Given the description of an element on the screen output the (x, y) to click on. 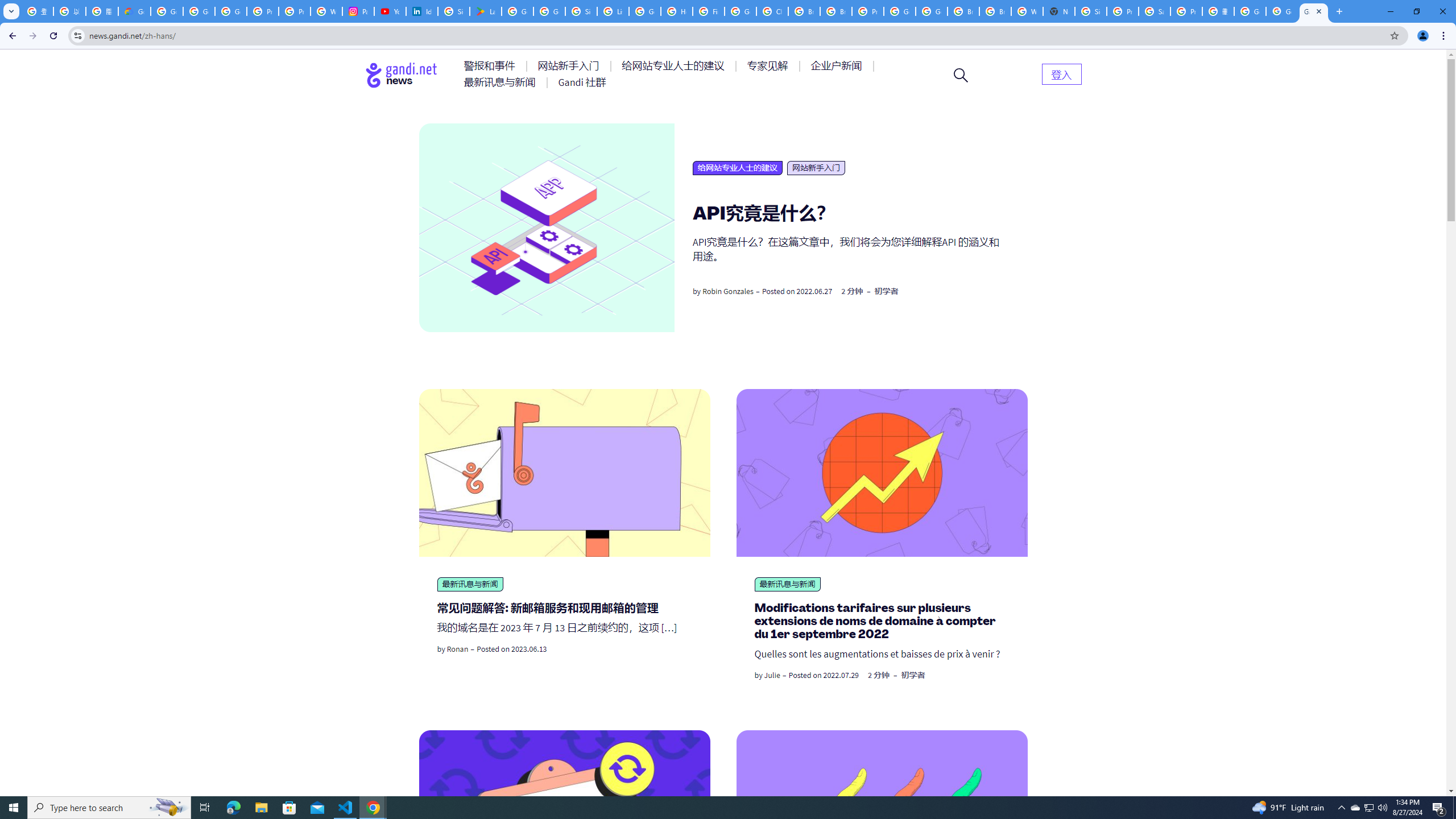
Identity verification via Persona | LinkedIn Help (421, 11)
Last Shelter: Survival - Apps on Google Play (485, 11)
Julie (772, 674)
Address and search bar (735, 35)
